Given the description of an element on the screen output the (x, y) to click on. 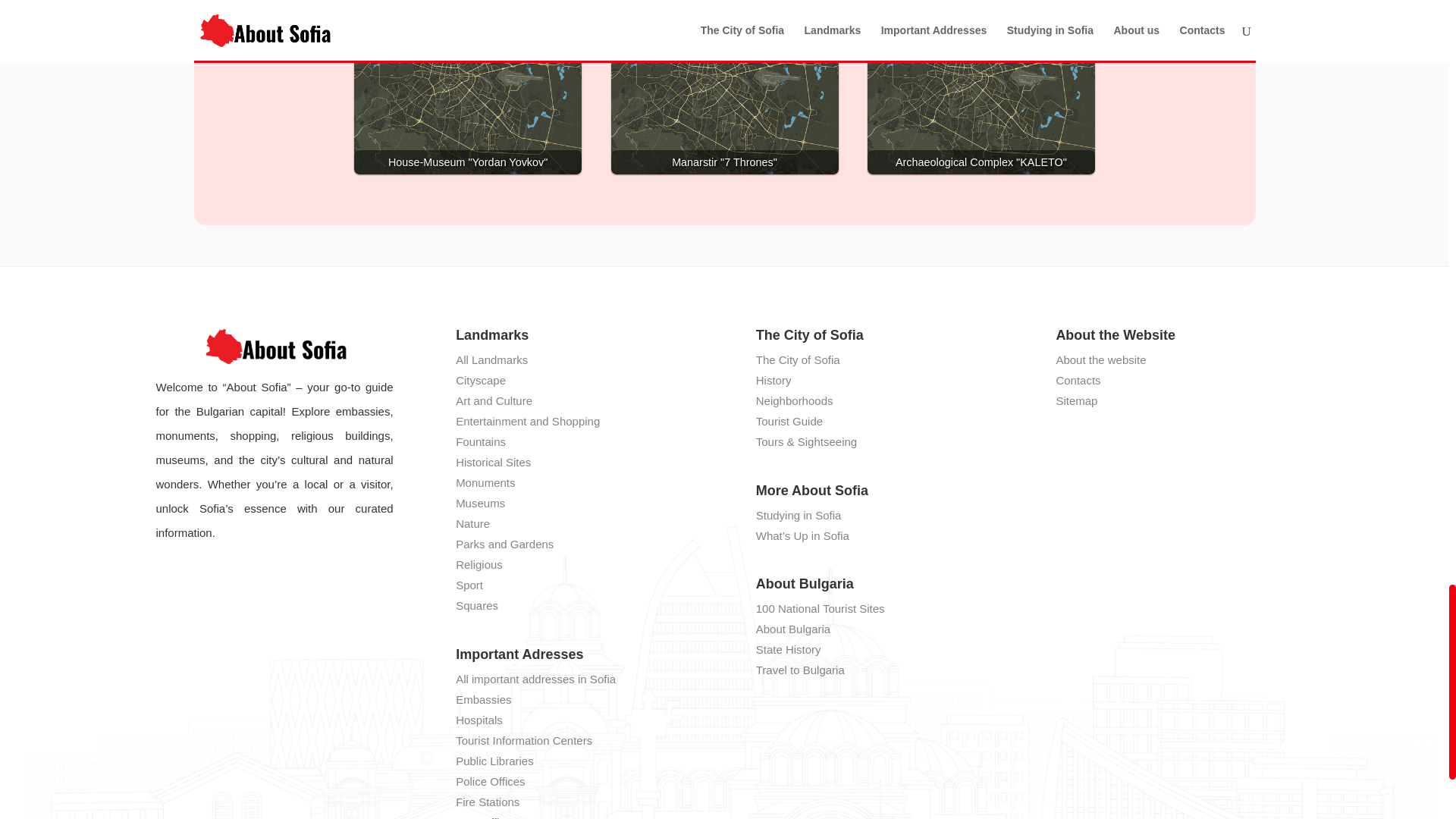
All Landmarks (491, 359)
Archaeological Complex "KALETO" (980, 87)
Cityscape (480, 379)
Archaeological Complex "KALETO" (980, 87)
Art and Culture (493, 400)
House-Museum "Yordan Yovkov" (466, 87)
House-Museum "Yordan Yovkov" (466, 87)
Manarstir "7 Thrones" (724, 87)
Manarstir "7 Thrones" (724, 87)
